Given the description of an element on the screen output the (x, y) to click on. 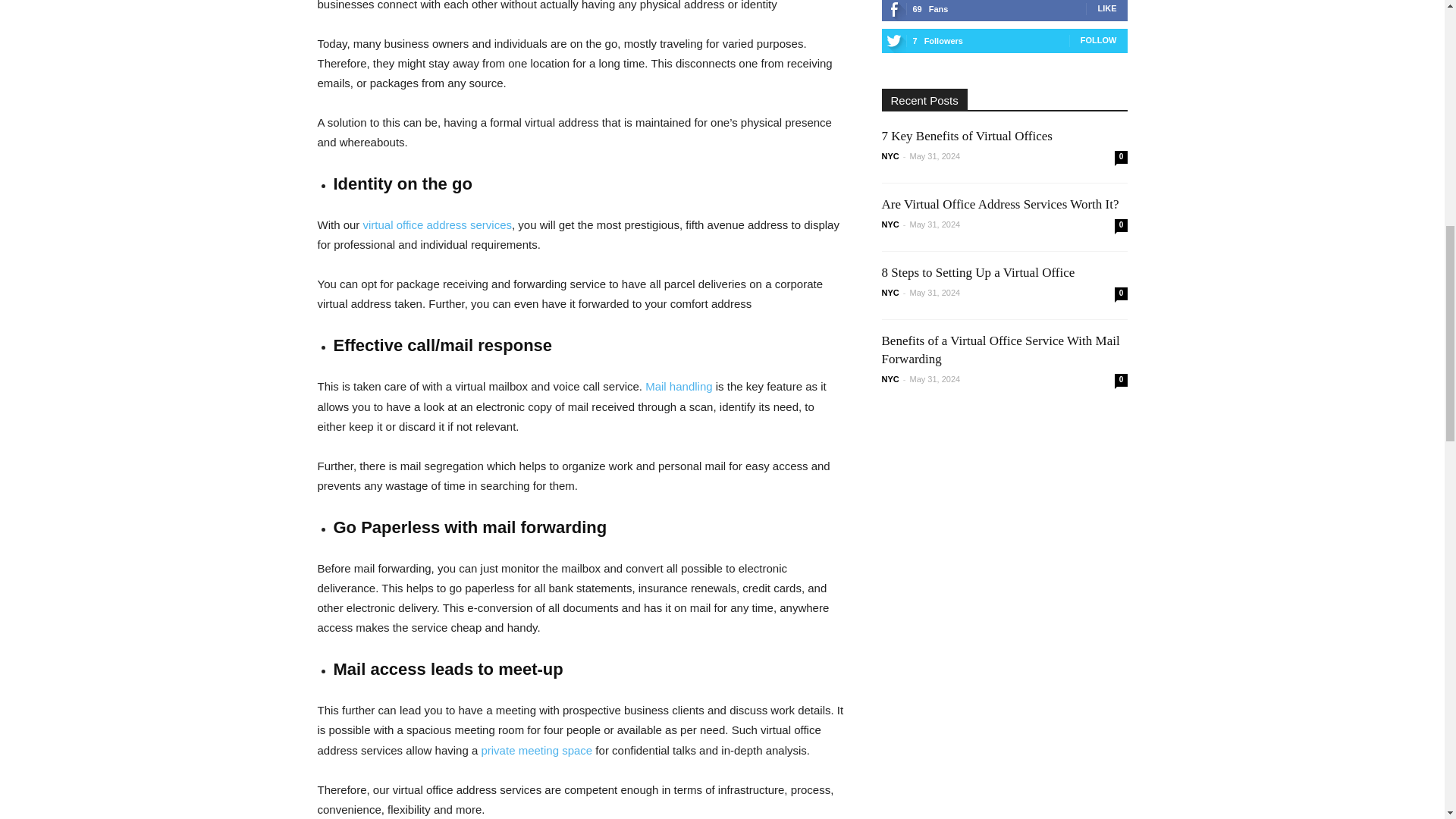
virtual office address services (437, 224)
Mail handling (678, 386)
private meeting space (536, 748)
